Given the description of an element on the screen output the (x, y) to click on. 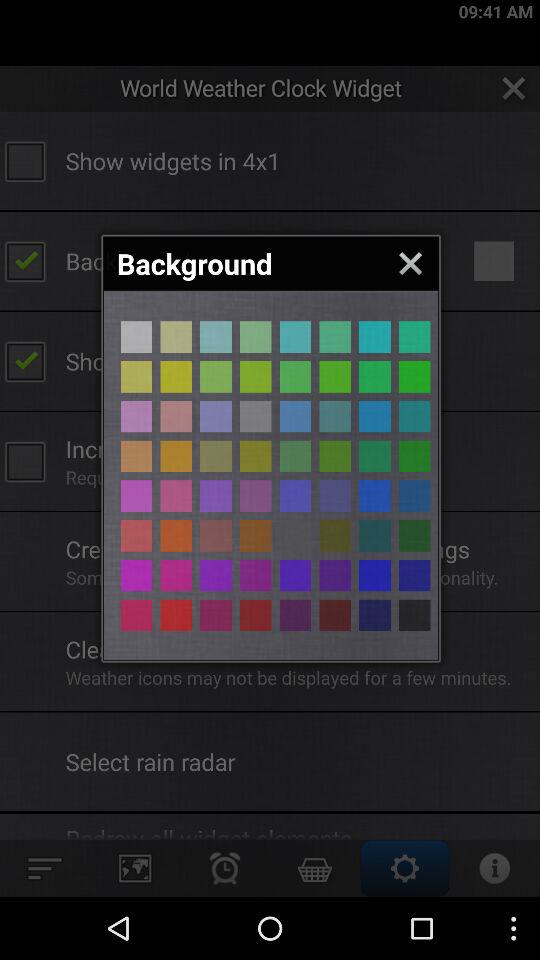
different color page (295, 495)
